Given the description of an element on the screen output the (x, y) to click on. 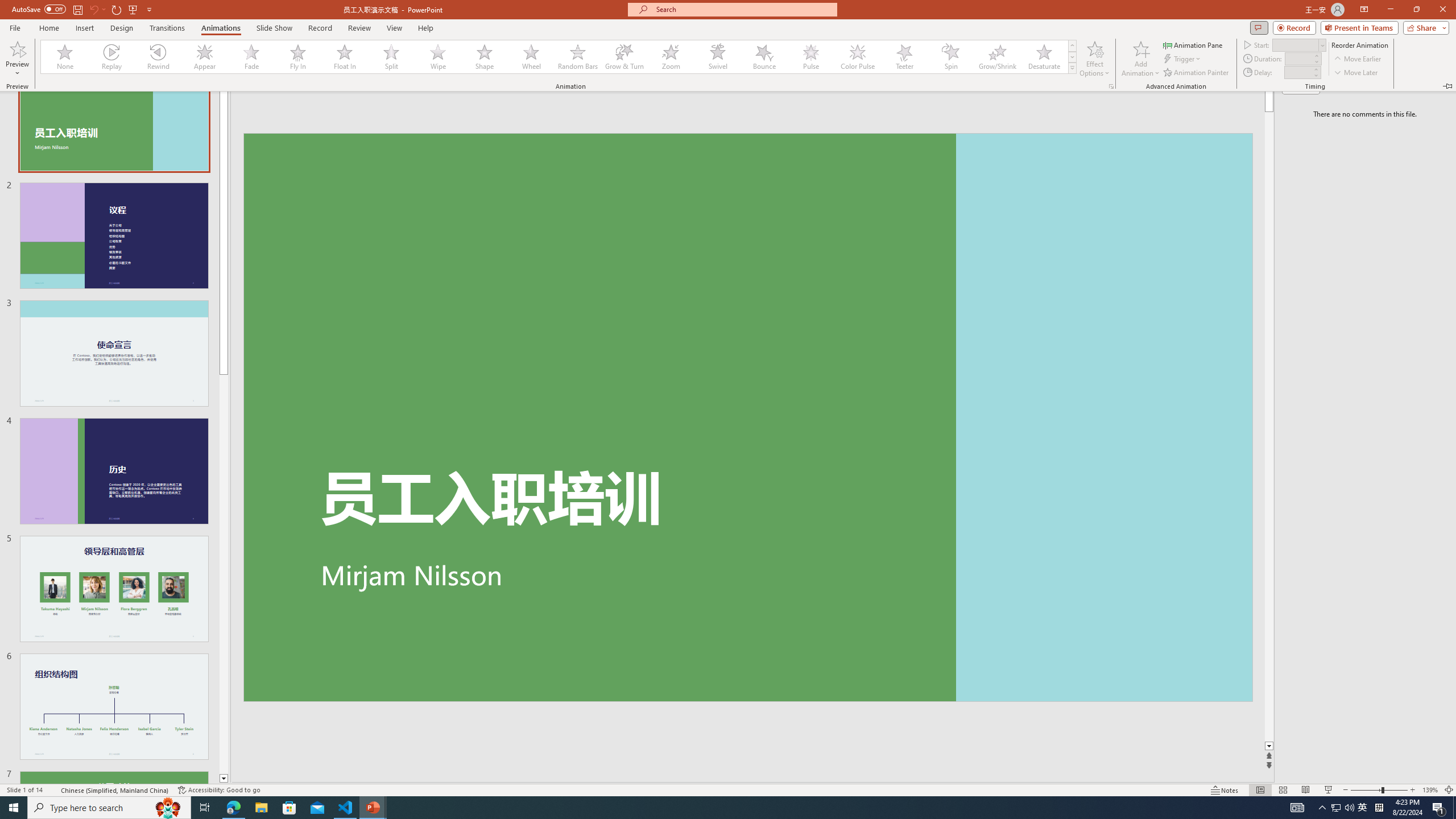
PowerPoint - 2 running windows (373, 807)
